Given the description of an element on the screen output the (x, y) to click on. 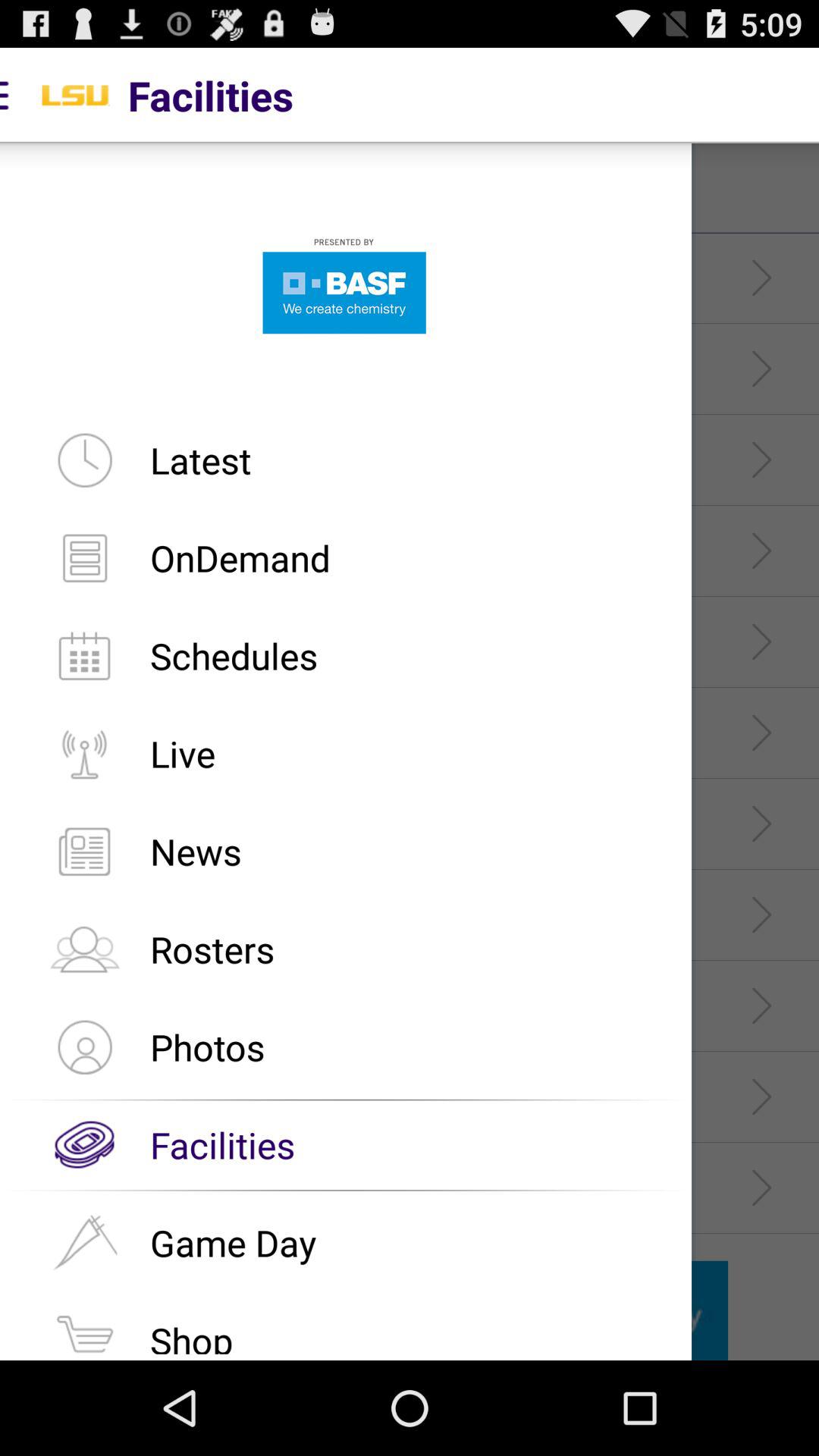
click on the watch icon beside latest (84, 460)
select first arrow from down (761, 1187)
go to shop option icon at the bottom (84, 1330)
select the fourth arrow in the right (761, 550)
select the icon left to the ondemand button (84, 557)
